Given the description of an element on the screen output the (x, y) to click on. 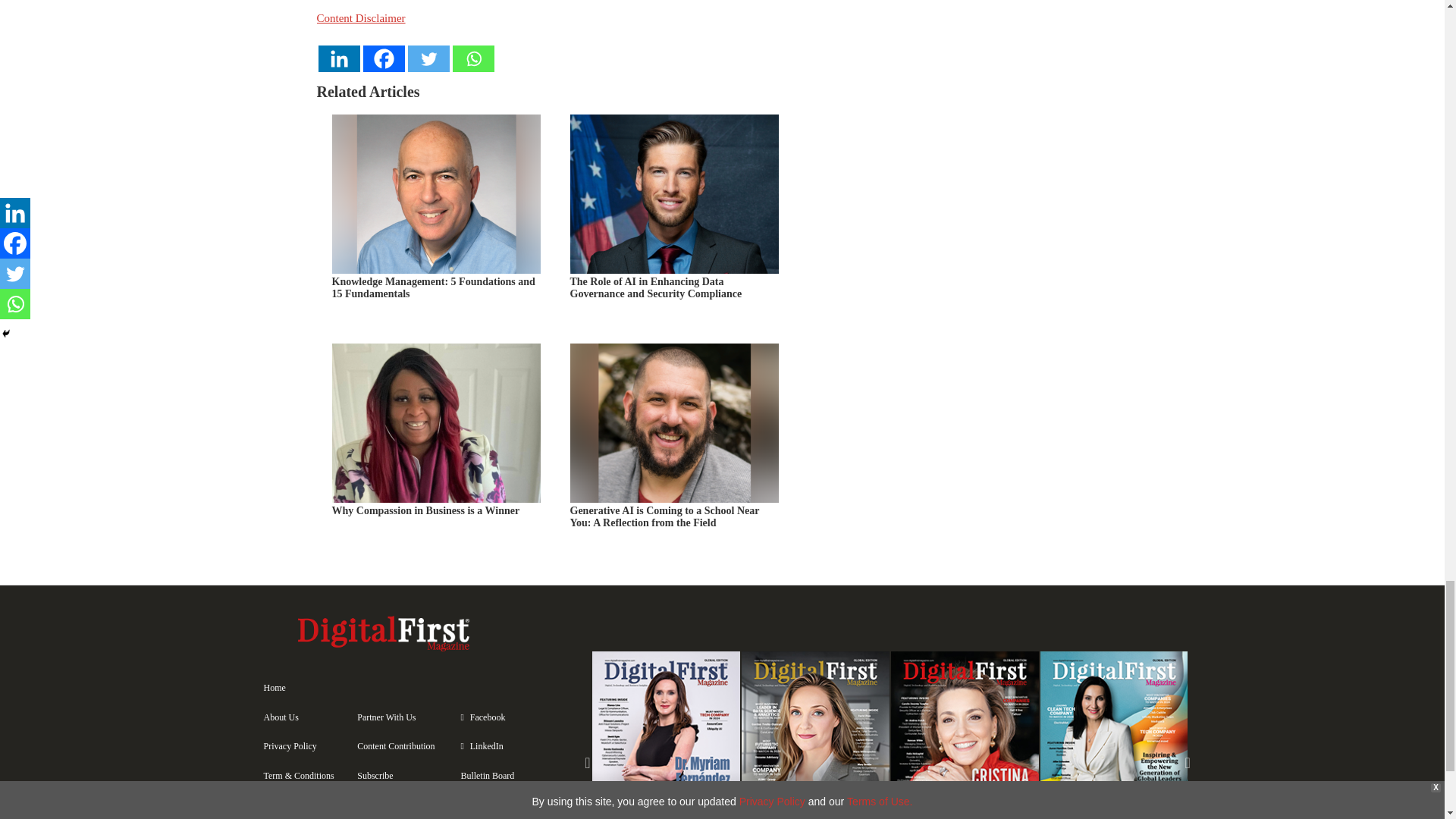
Linkedin (338, 58)
Facebook (383, 58)
Whatsapp (472, 58)
Twitter (428, 58)
